Given the description of an element on the screen output the (x, y) to click on. 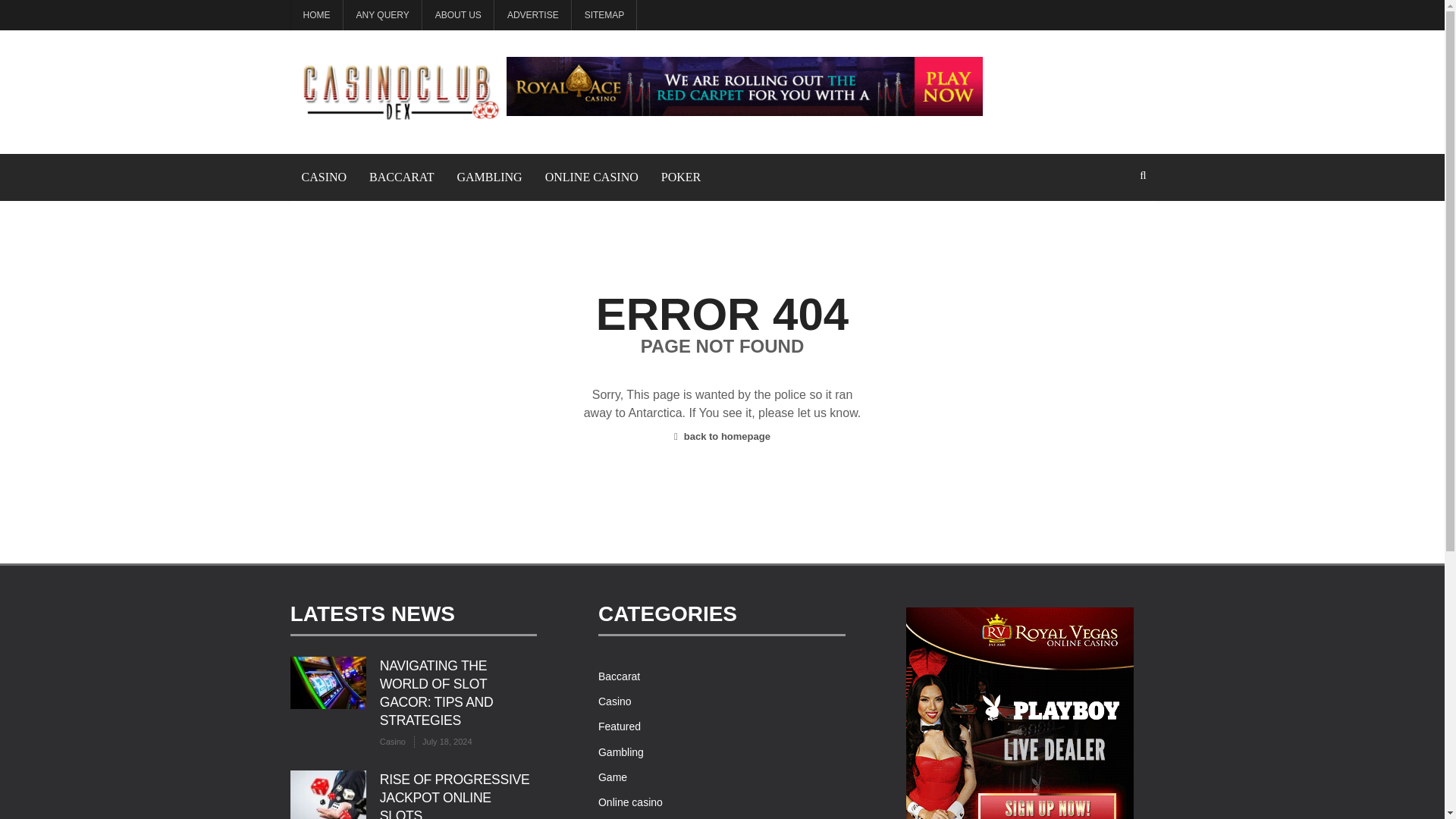
ANY QUERY (382, 15)
Casino (393, 741)
GAMBLING (488, 176)
July 18, 2024 (442, 741)
Baccarat (619, 676)
NAVIGATING THE WORLD OF SLOT GACOR: TIPS AND STRATEGIES (436, 693)
POKER (680, 176)
back to homepage (722, 436)
ONLINE CASINO (591, 176)
Online casino (630, 802)
ADVERTISE (533, 15)
BACCARAT (401, 176)
Casino (614, 701)
HOME (315, 15)
Gambling (620, 752)
